Given the description of an element on the screen output the (x, y) to click on. 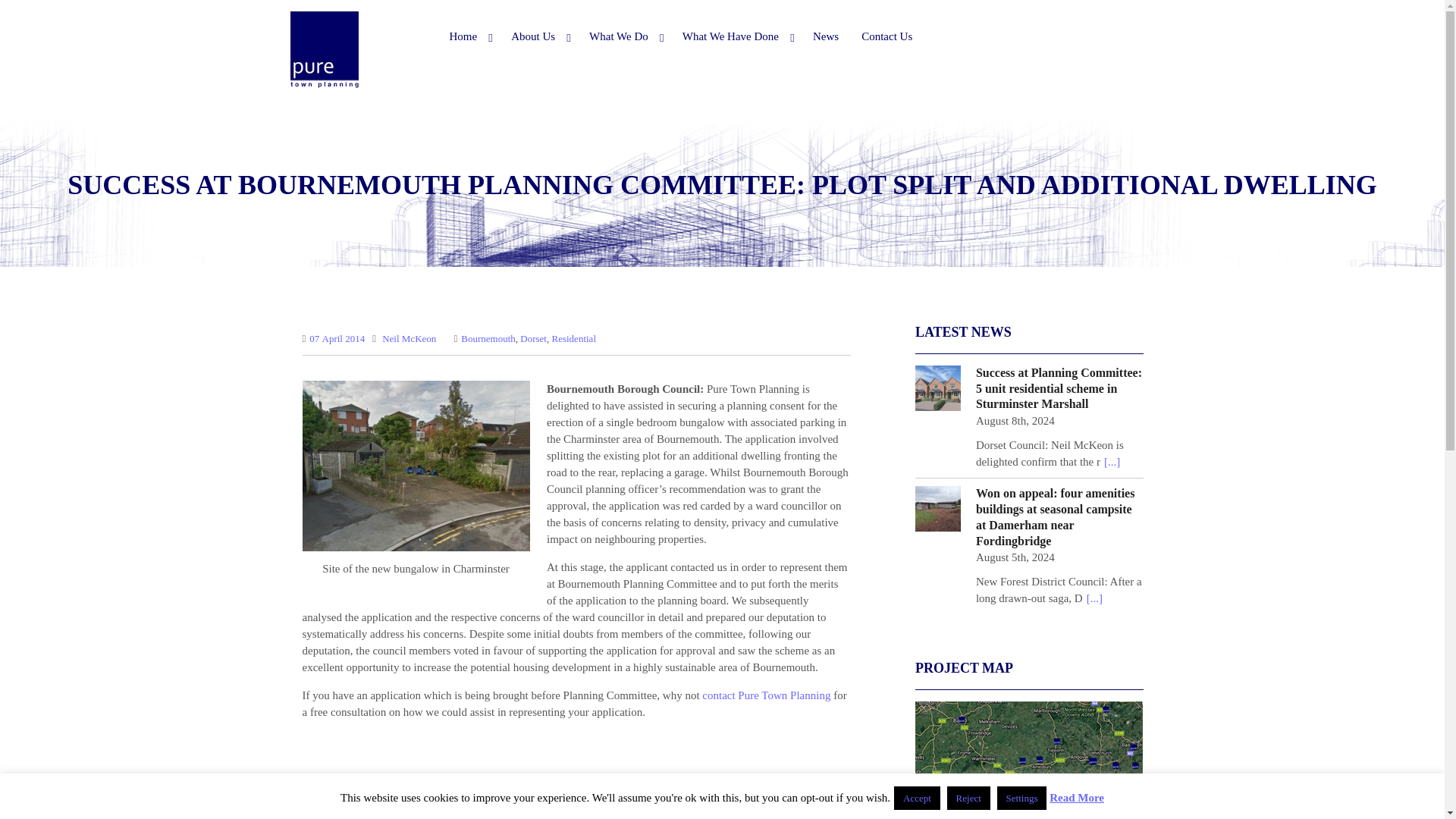
Contact Us (765, 695)
07 April 2014 (336, 337)
Neil McKeon (408, 337)
About Us (538, 36)
News (826, 36)
Home (469, 36)
Contact Us (886, 36)
